Given the description of an element on the screen output the (x, y) to click on. 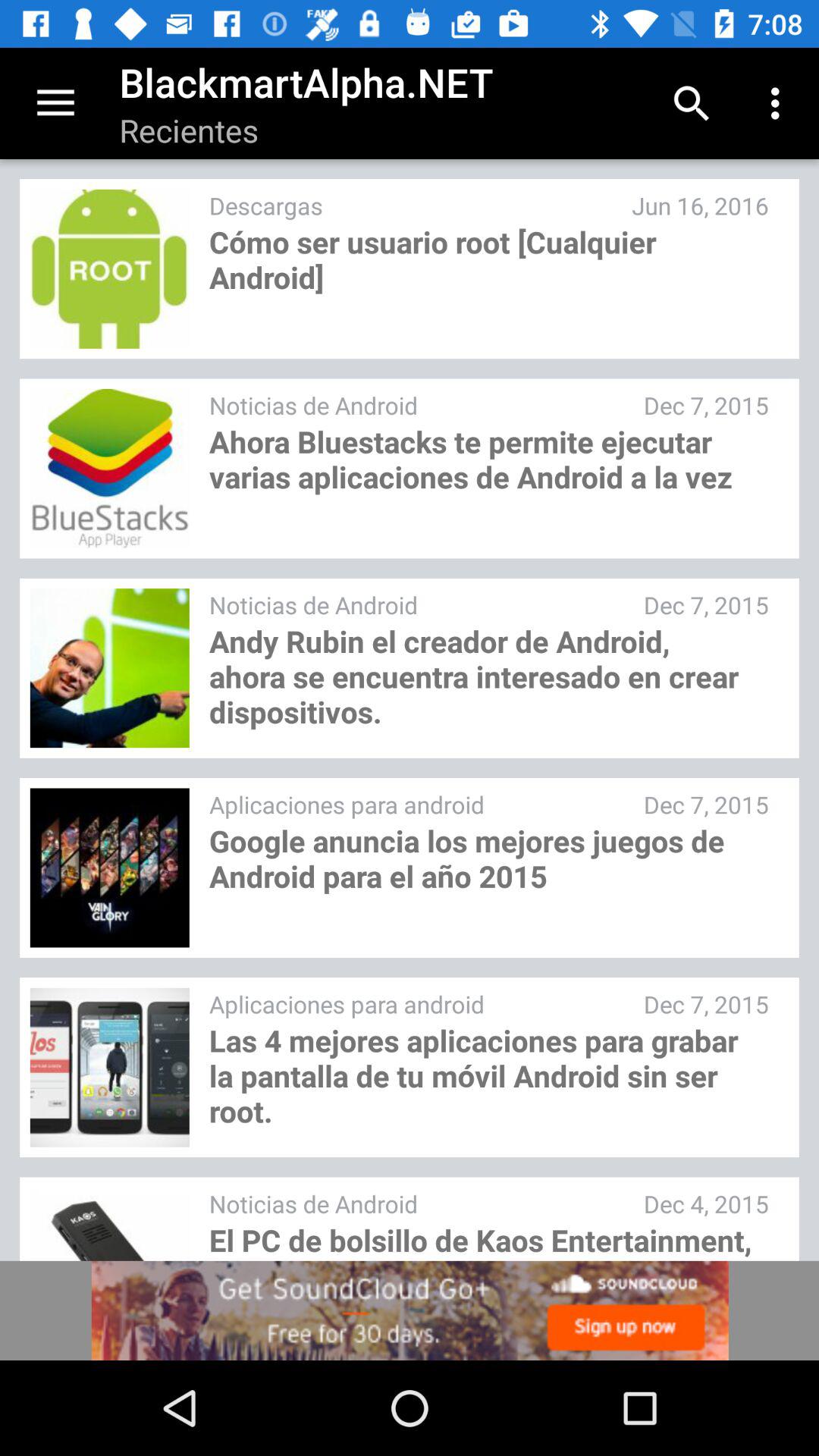
go to soundcloud (409, 1310)
